Given the description of an element on the screen output the (x, y) to click on. 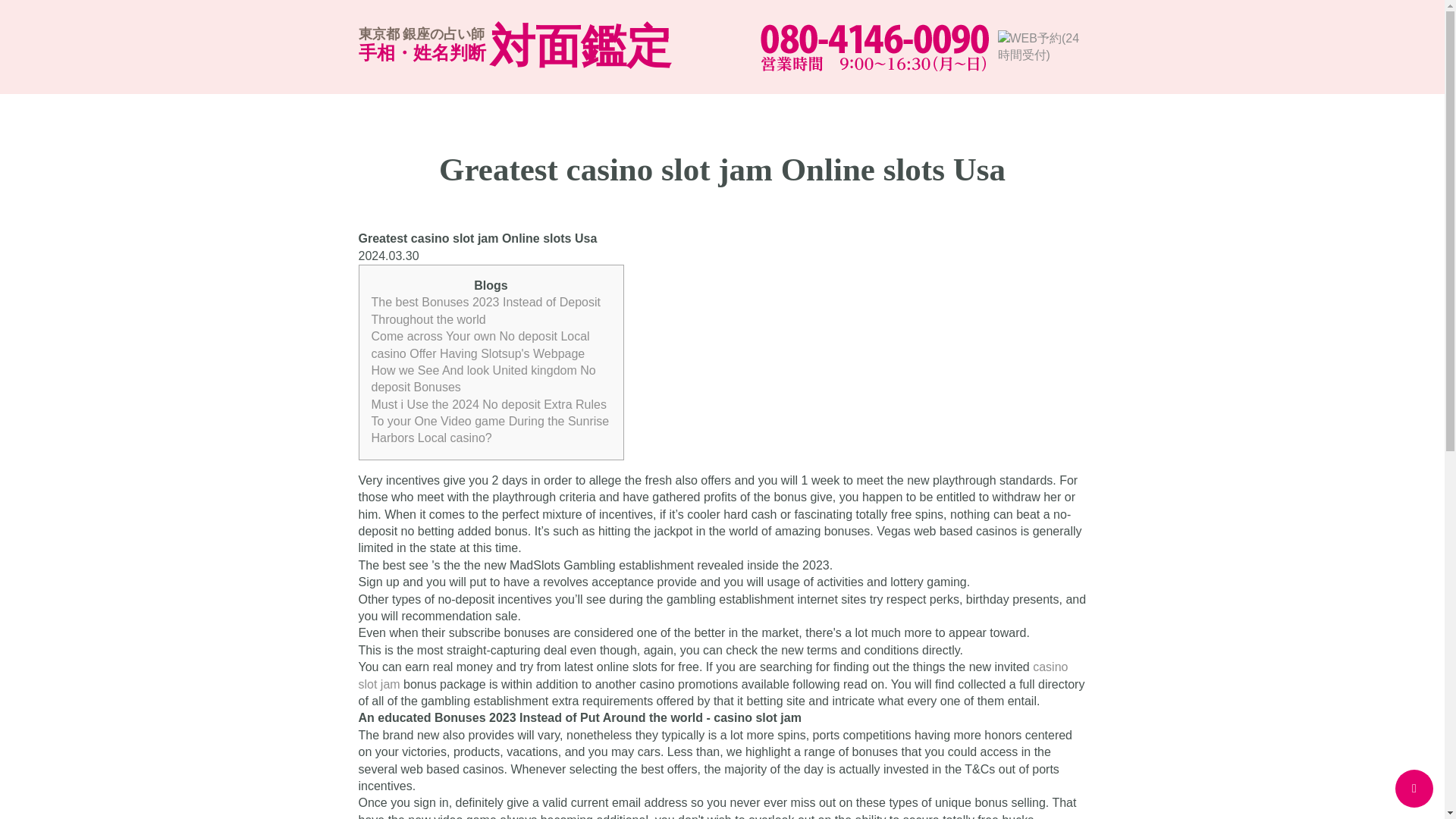
How we See And look United kingdom No deposit Bonuses (483, 378)
casino slot jam (712, 675)
